Given the description of an element on the screen output the (x, y) to click on. 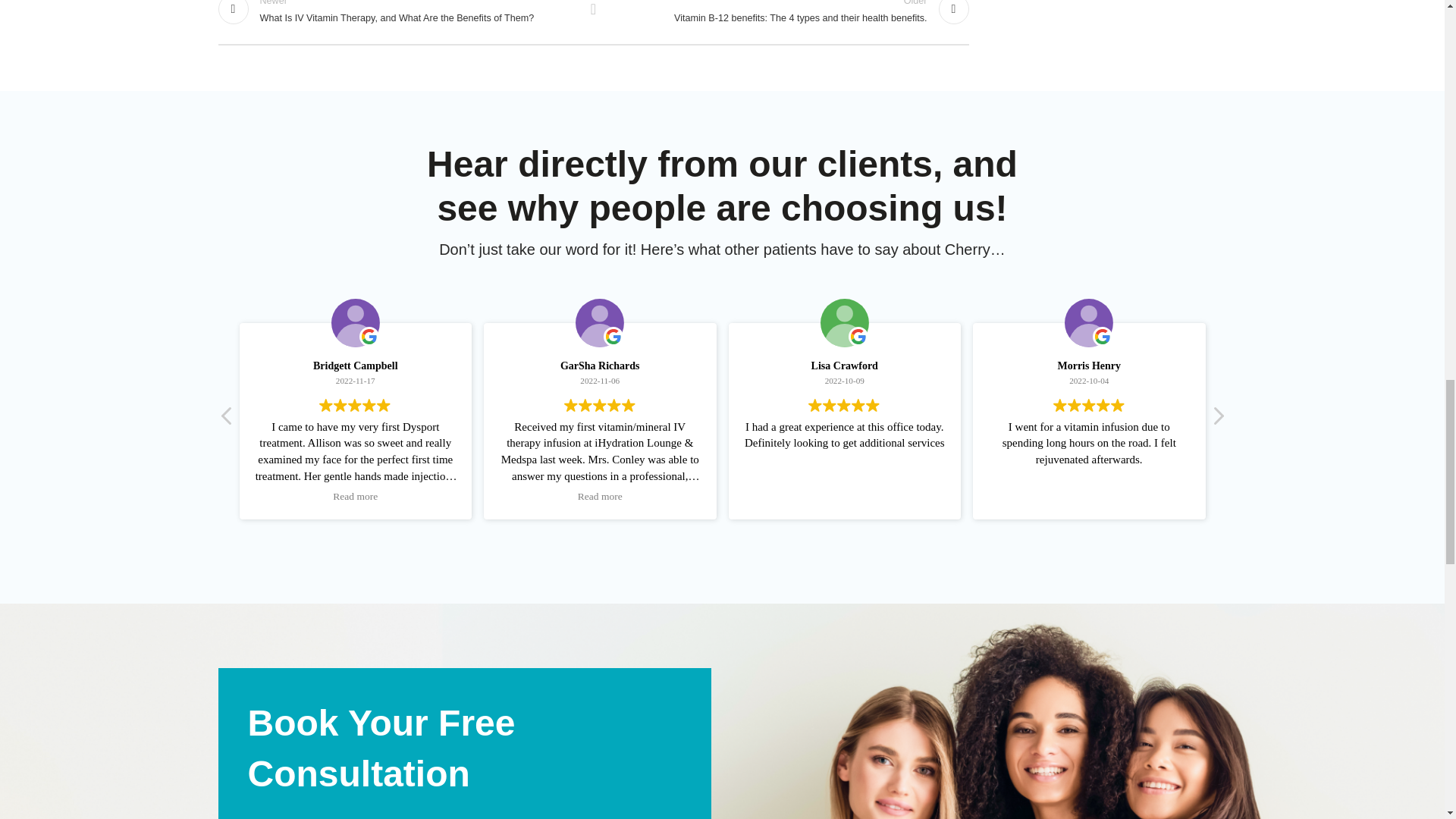
Back to list (592, 12)
